Given the description of an element on the screen output the (x, y) to click on. 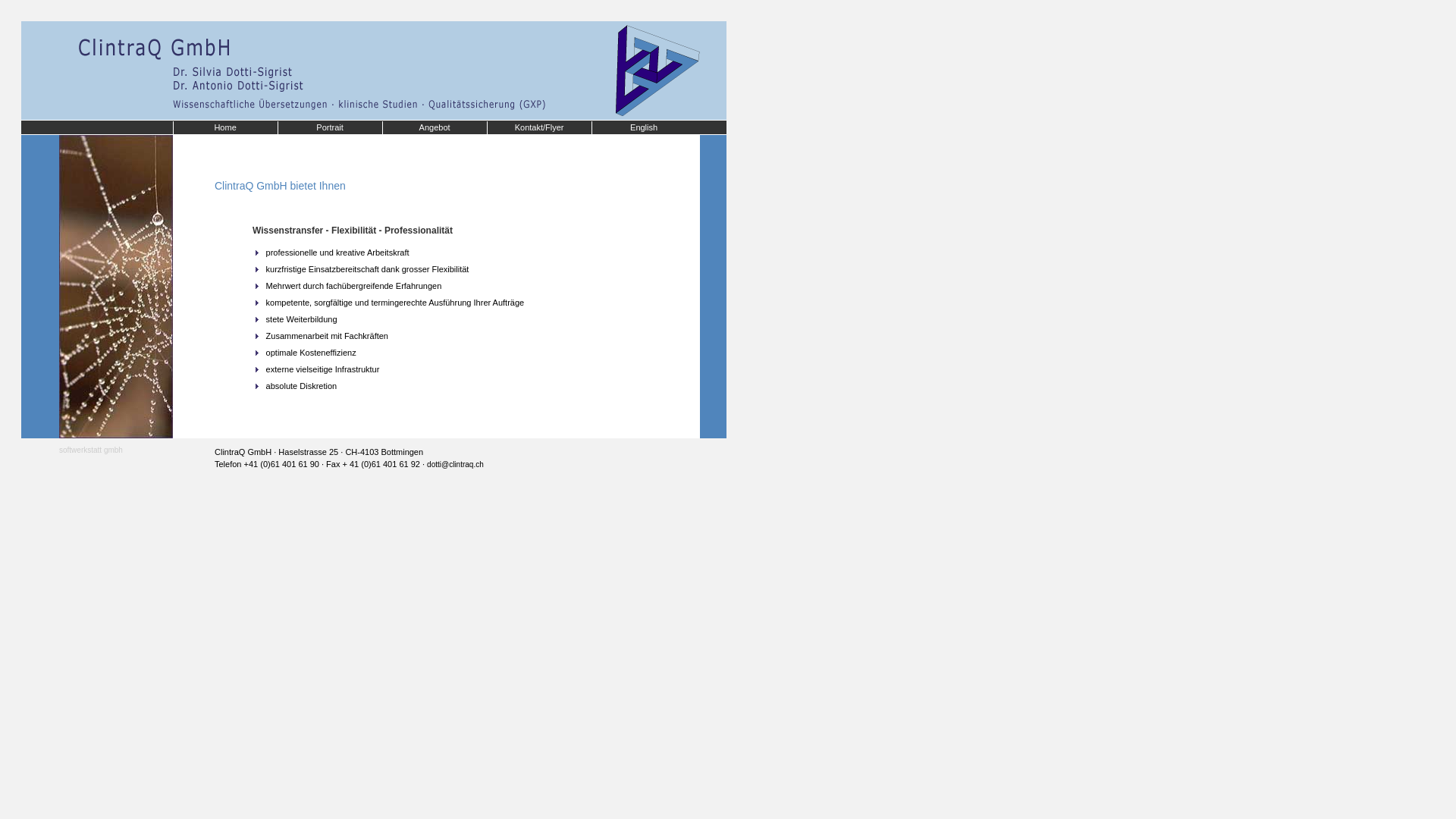
softwerkstatt gmbh Element type: text (90, 449)
Kontakt/Flyer Element type: text (538, 127)
Angebot Element type: text (434, 127)
dotti@clintraq.ch Element type: text (454, 464)
Portrait Element type: text (329, 127)
Home Element type: text (224, 127)
English Element type: text (643, 127)
